Given the description of an element on the screen output the (x, y) to click on. 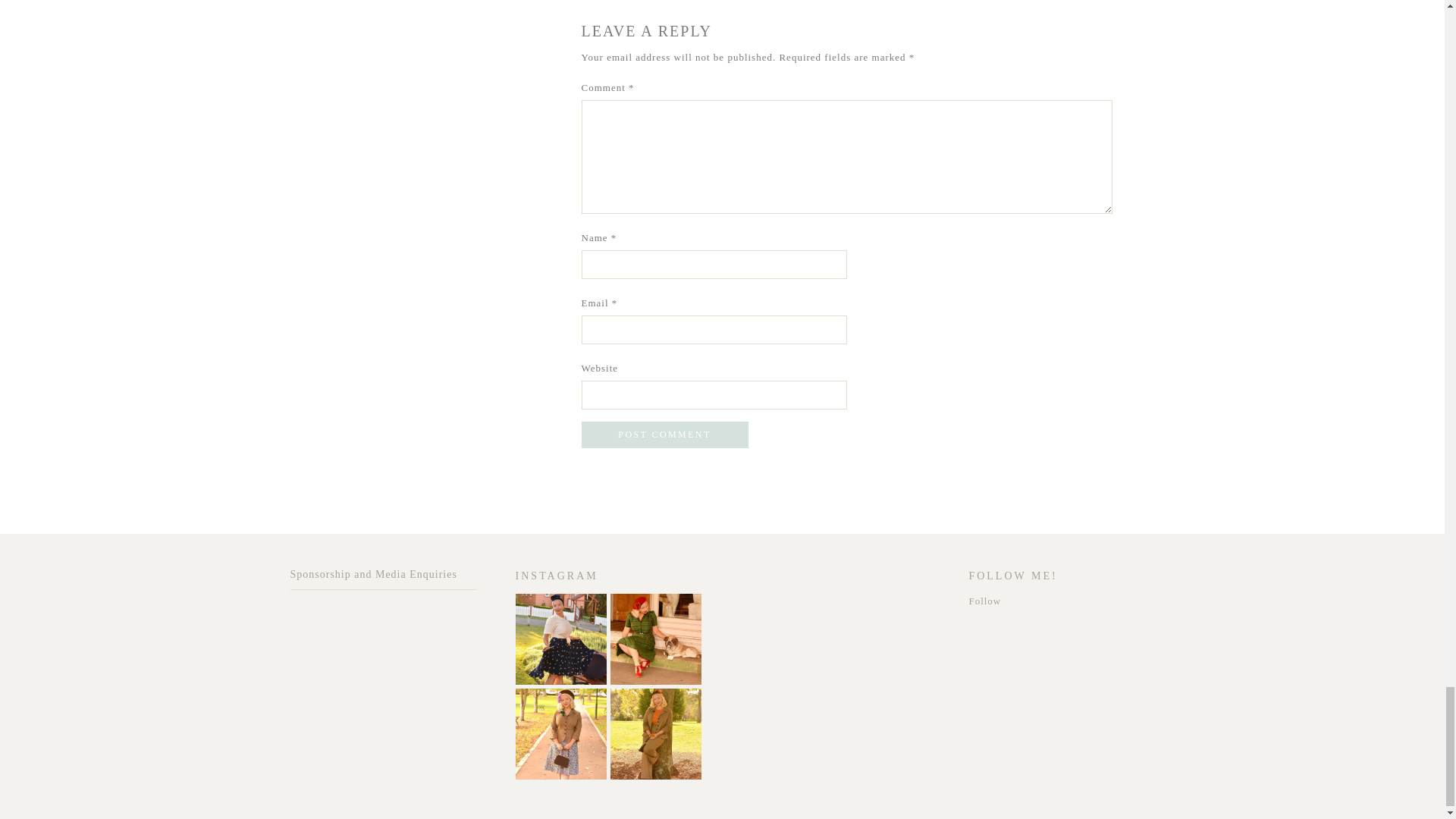
Post Comment (664, 434)
Facebook (1372, 496)
Post Comment (664, 434)
